Given the description of an element on the screen output the (x, y) to click on. 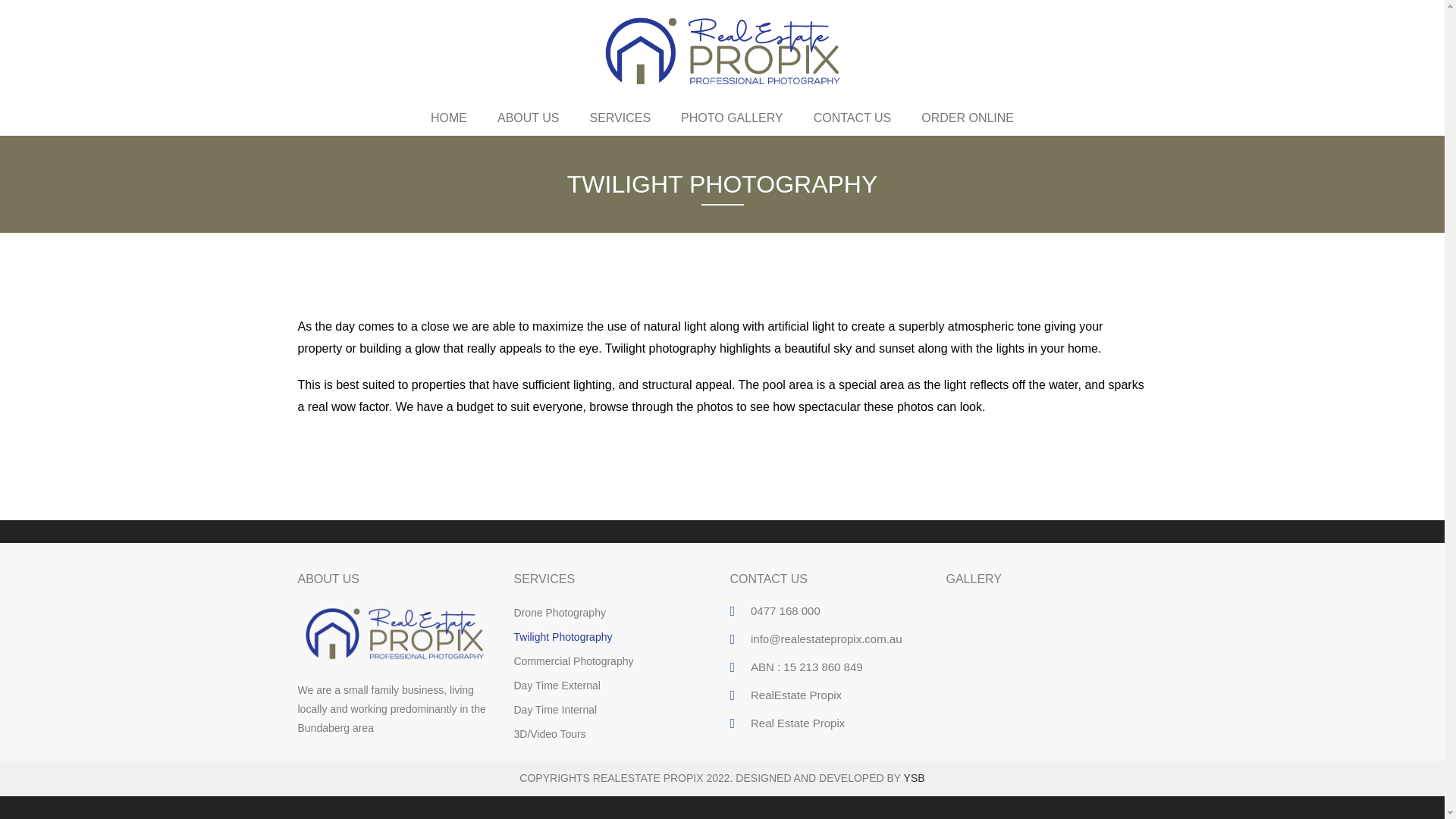
ORDER ONLINE (967, 117)
SERVICES (619, 117)
PHOTO GALLERY (731, 117)
CONTACT US (852, 117)
HOME (447, 117)
ABOUT US (528, 117)
